Given the description of an element on the screen output the (x, y) to click on. 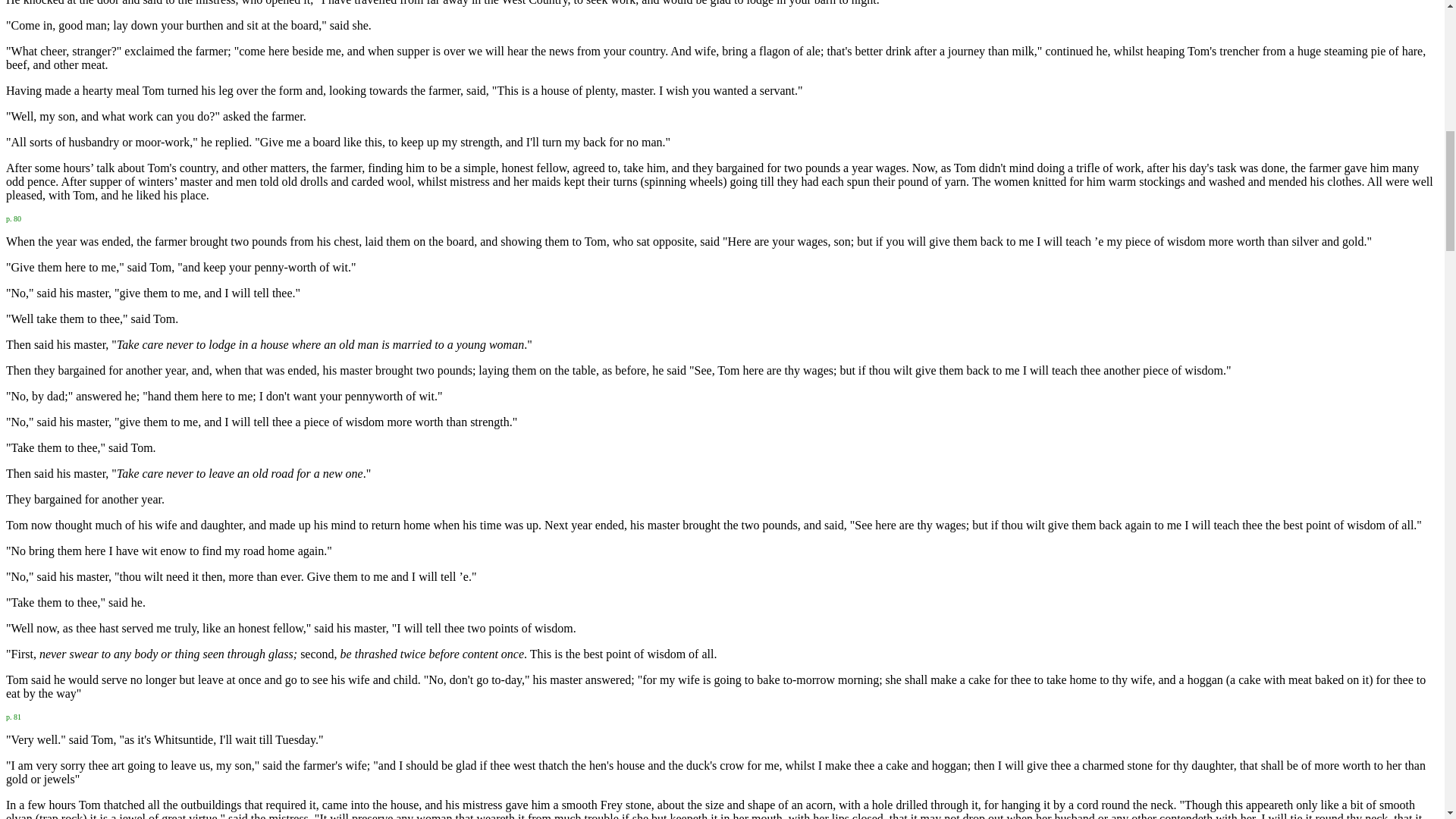
p. 80 (13, 216)
p. 81 (13, 715)
